Given the description of an element on the screen output the (x, y) to click on. 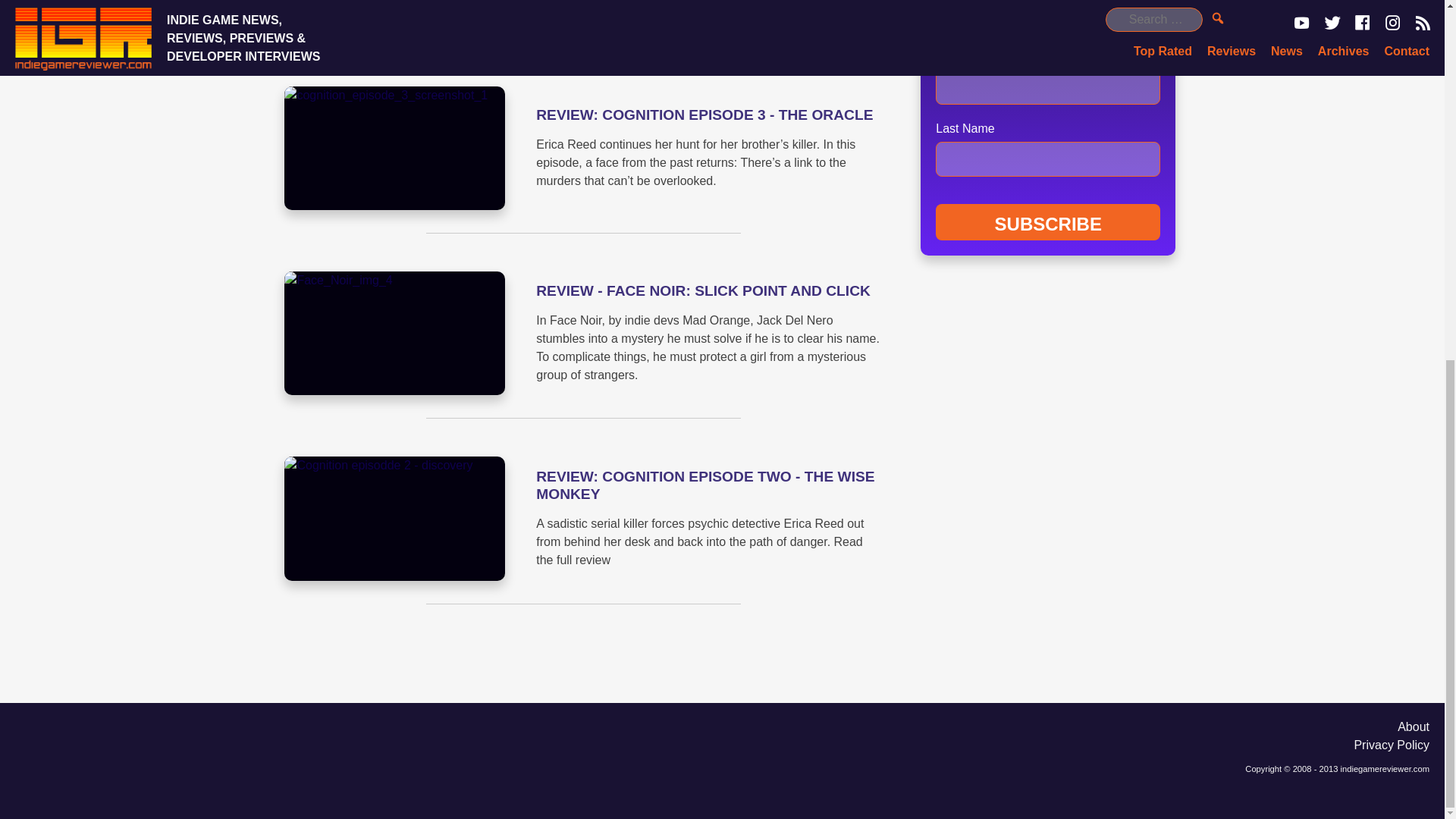
Subscribe (1048, 221)
Subscribe (1048, 221)
REVIEW - FACE NOIR: SLICK POINT AND CLICK (702, 290)
REVIEW: COGNITION EPISODE TWO - THE WISE MONKEY (705, 485)
About (1413, 726)
Privacy Policy (1391, 744)
REVIEW: COGNITION EPISODE 3 - THE ORACLE (703, 114)
